Given the description of an element on the screen output the (x, y) to click on. 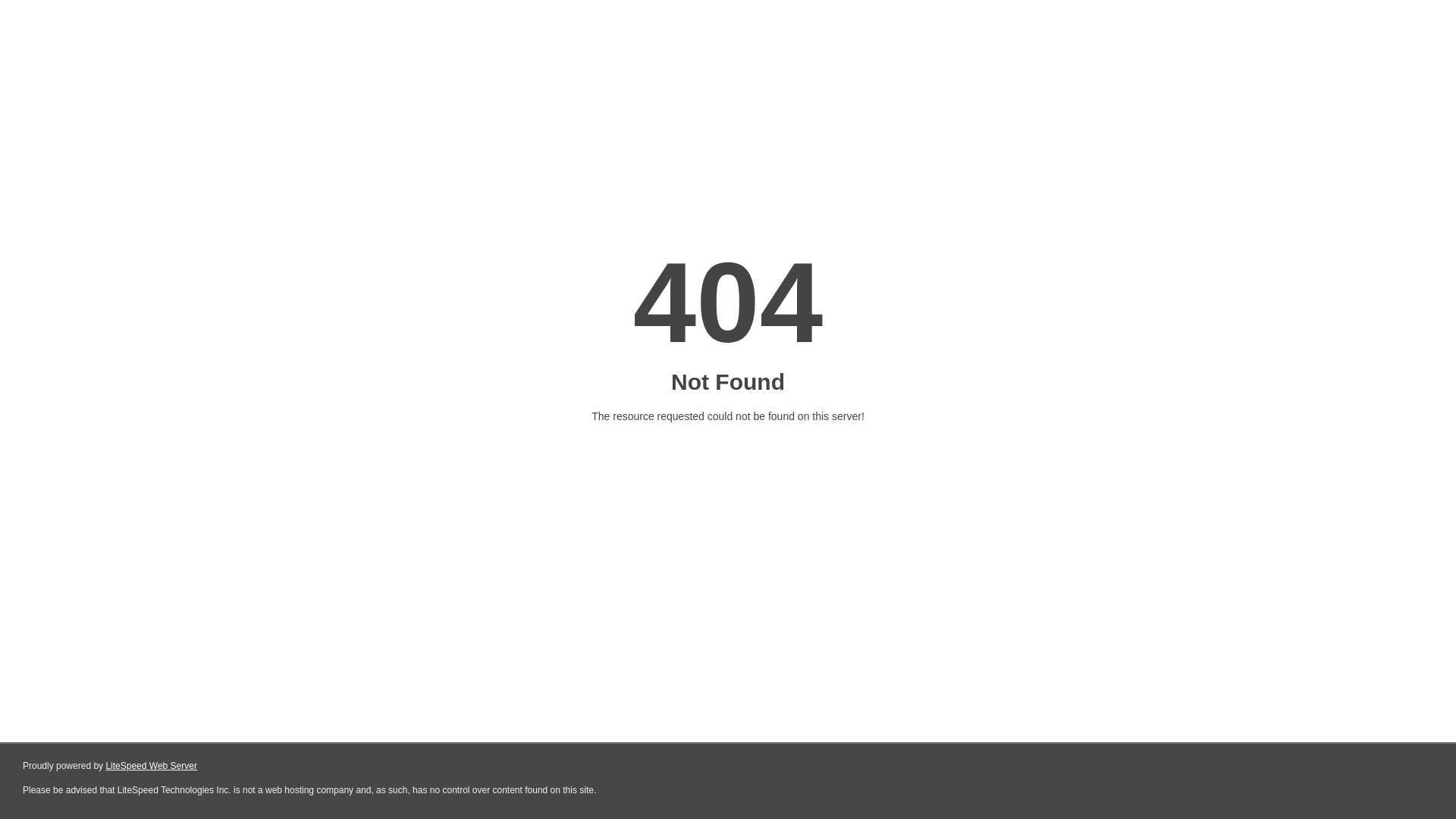
LiteSpeed Web Server (150, 765)
